Given the description of an element on the screen output the (x, y) to click on. 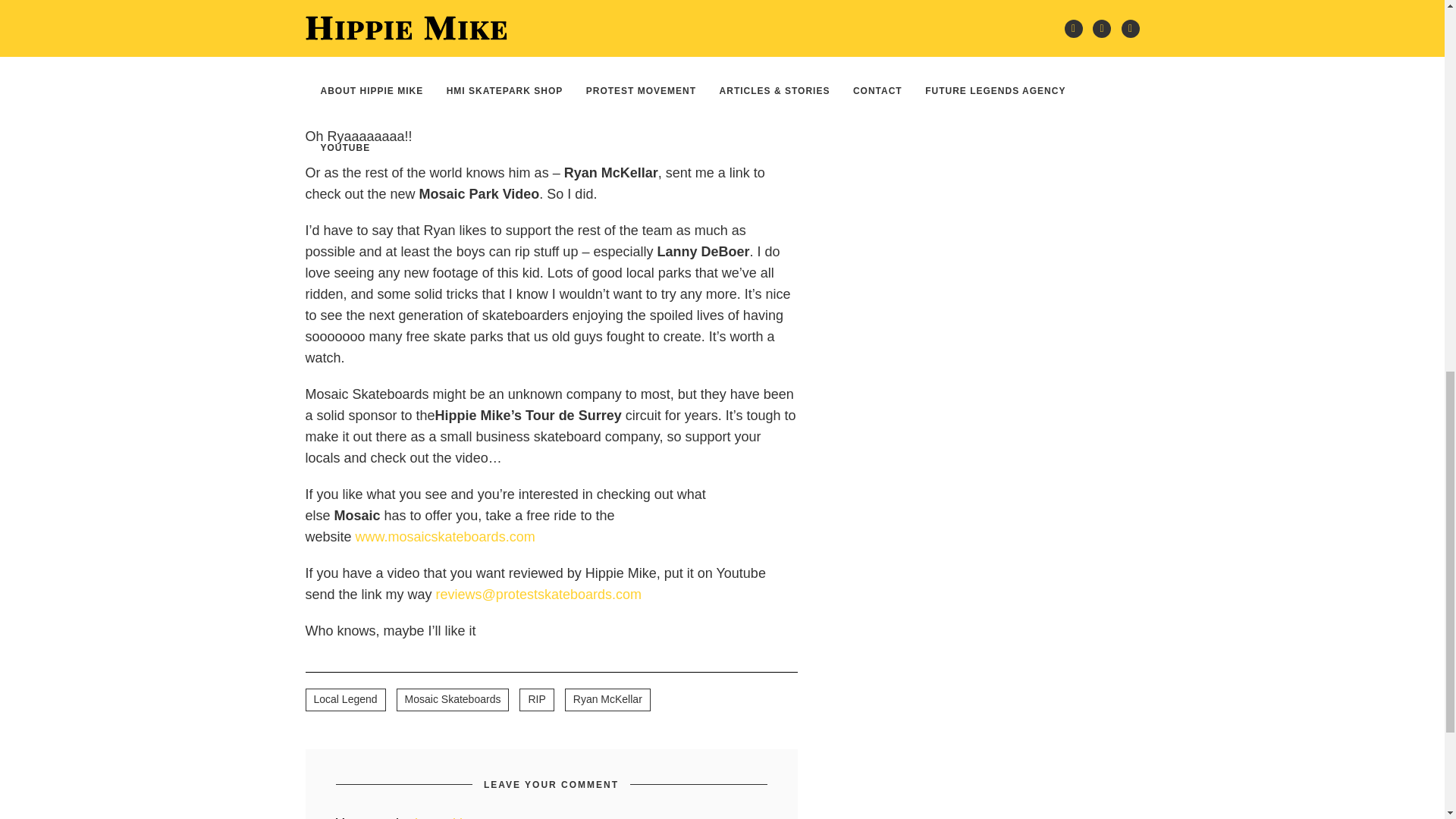
RIP (536, 699)
Mosaic Skateboards (452, 699)
logged in (442, 817)
www.mosaicskateboards.com (445, 536)
Local Legend (344, 699)
Ryan McKellar (607, 699)
